Given the description of an element on the screen output the (x, y) to click on. 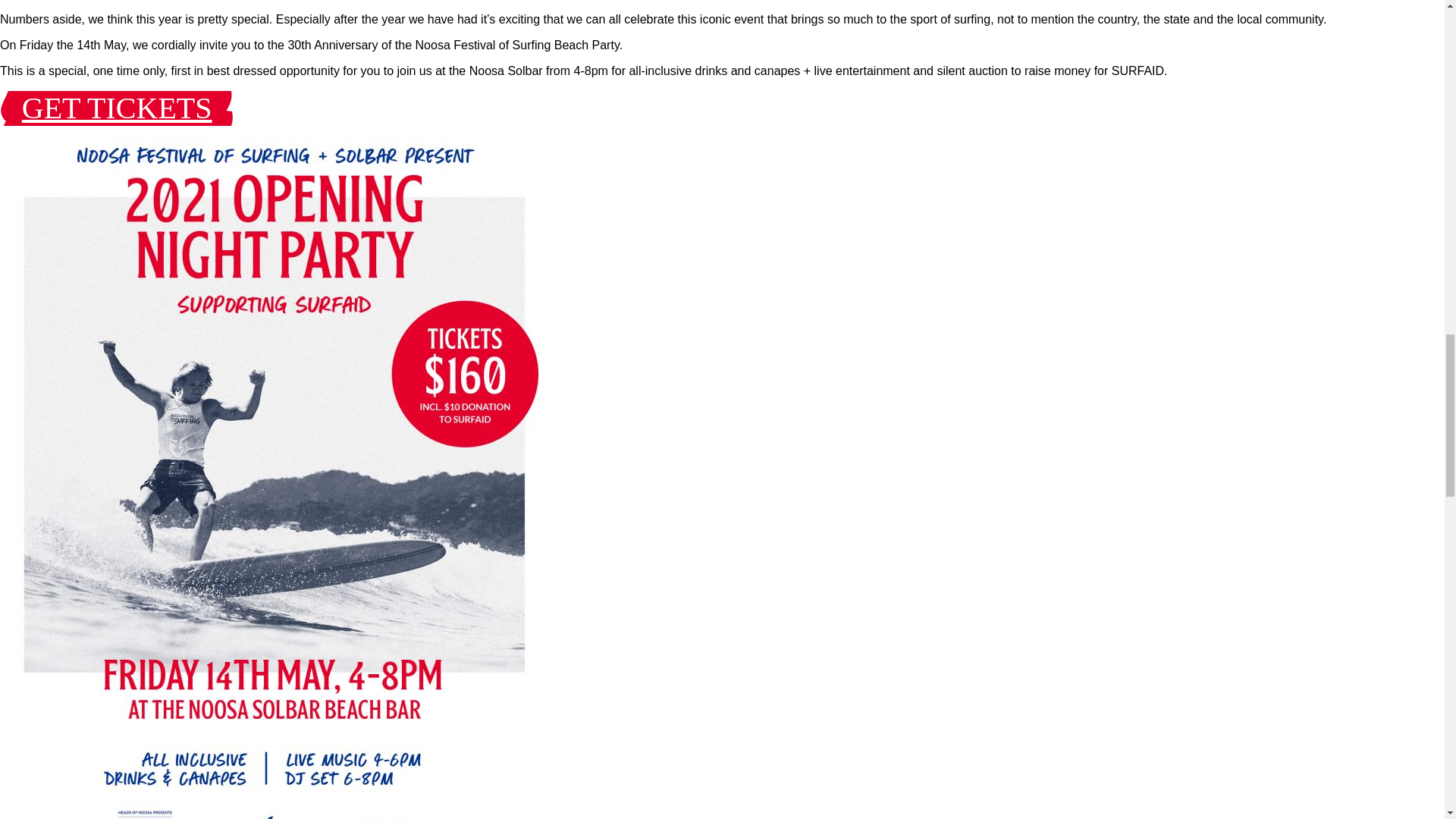
GET TICKETS (116, 112)
